Given the description of an element on the screen output the (x, y) to click on. 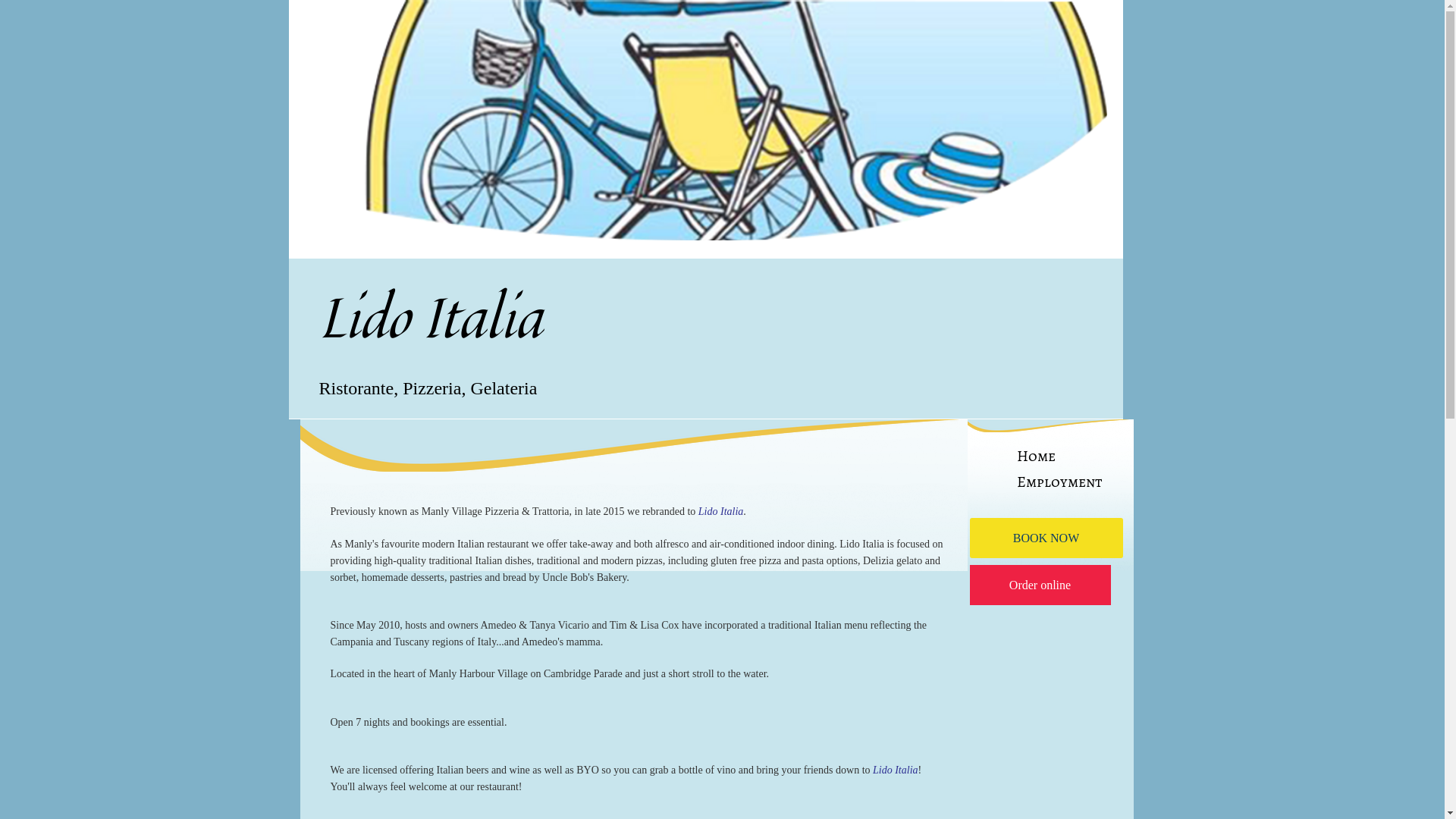
Home Element type: text (1035, 455)
Order online Element type: text (1039, 584)
Employment Element type: text (1058, 481)
BOOK NOW Element type: text (1045, 537)
